Given the description of an element on the screen output the (x, y) to click on. 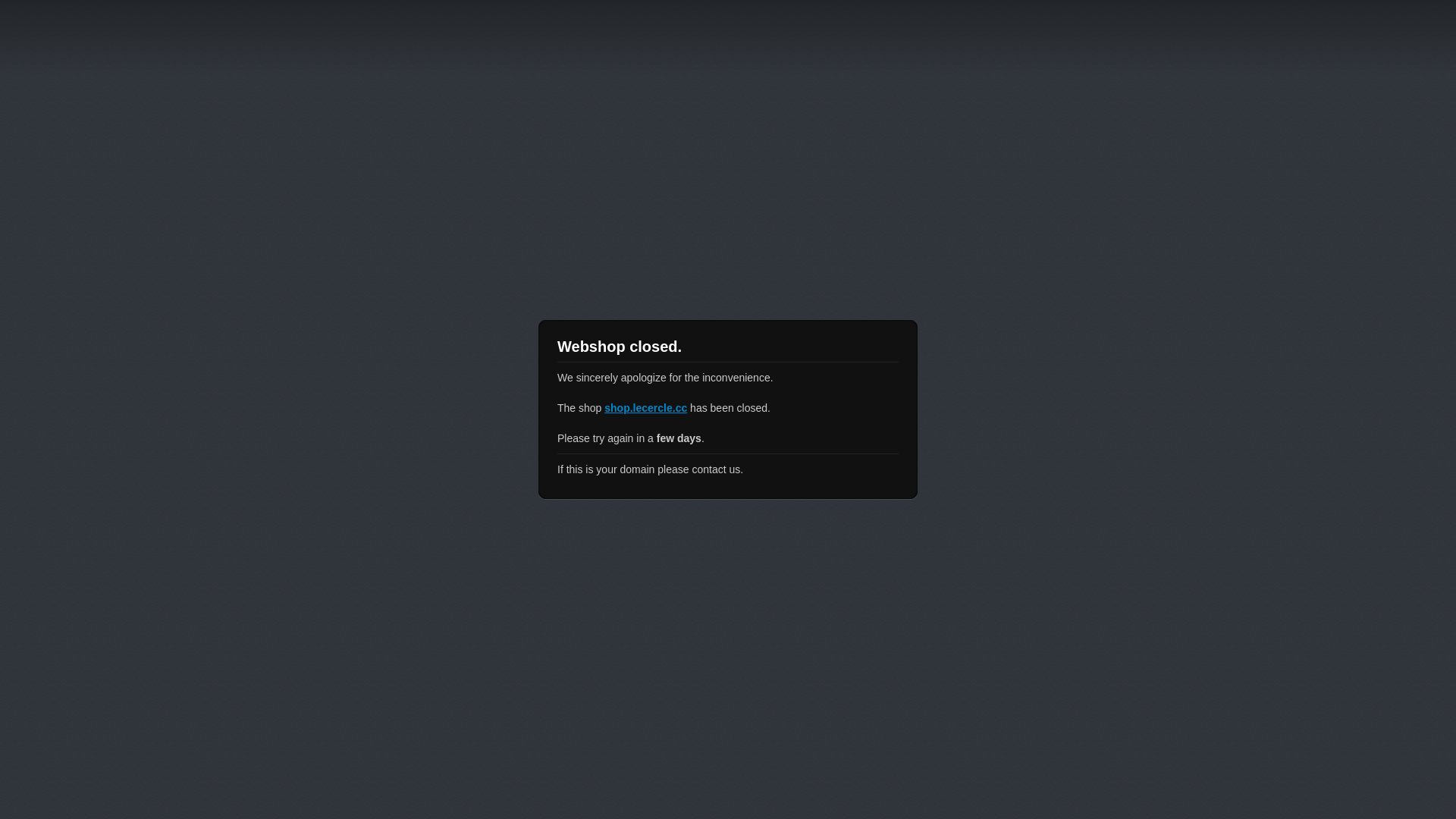
shop.lecercle.cc Element type: text (645, 407)
